Given the description of an element on the screen output the (x, y) to click on. 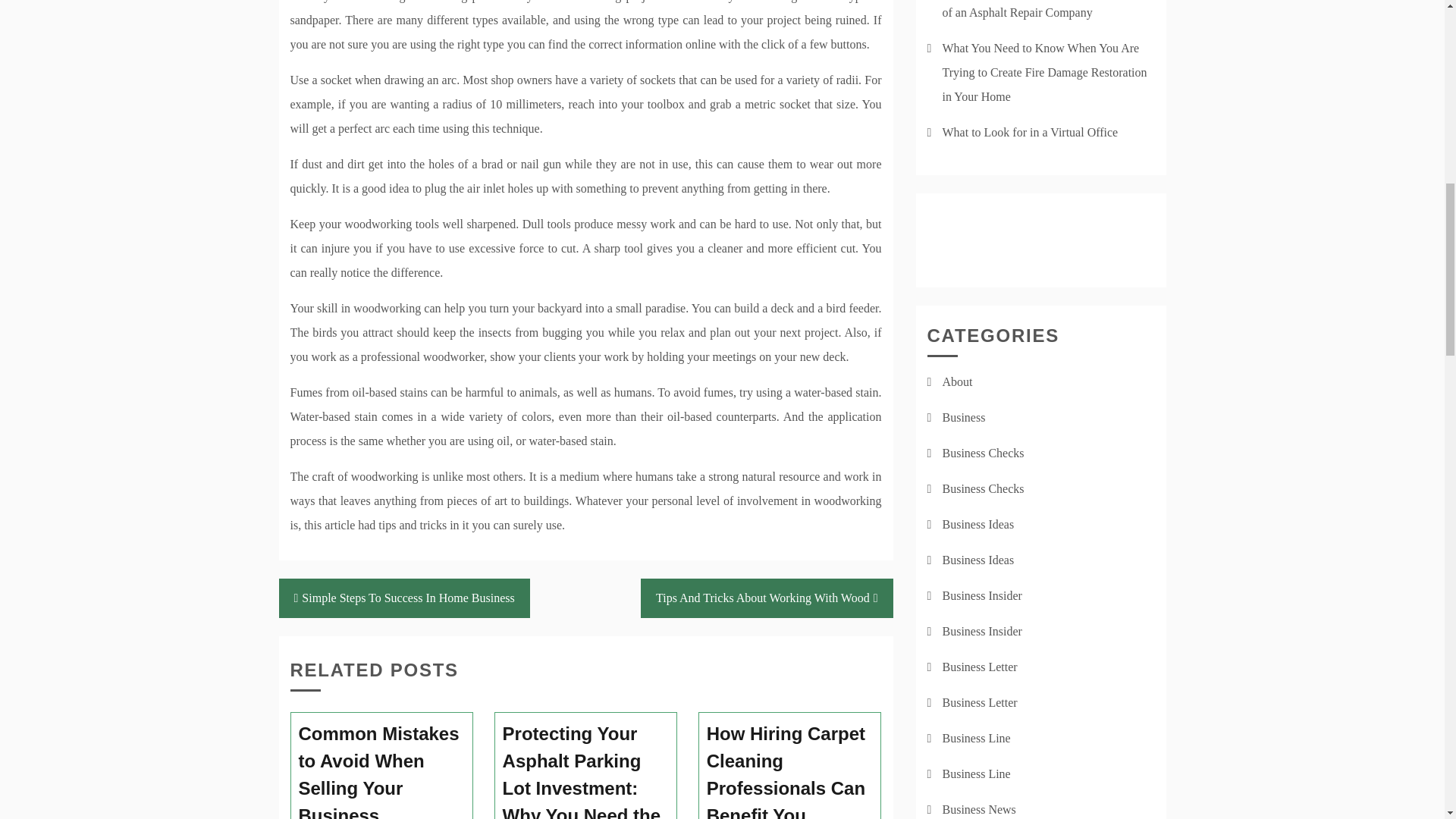
How Hiring Carpet Cleaning Professionals Can Benefit You (789, 769)
Common Mistakes to Avoid When Selling Your Business (381, 769)
Simple Steps To Success In Home Business (404, 598)
Tips And Tricks About Working With Wood (766, 598)
